Given the description of an element on the screen output the (x, y) to click on. 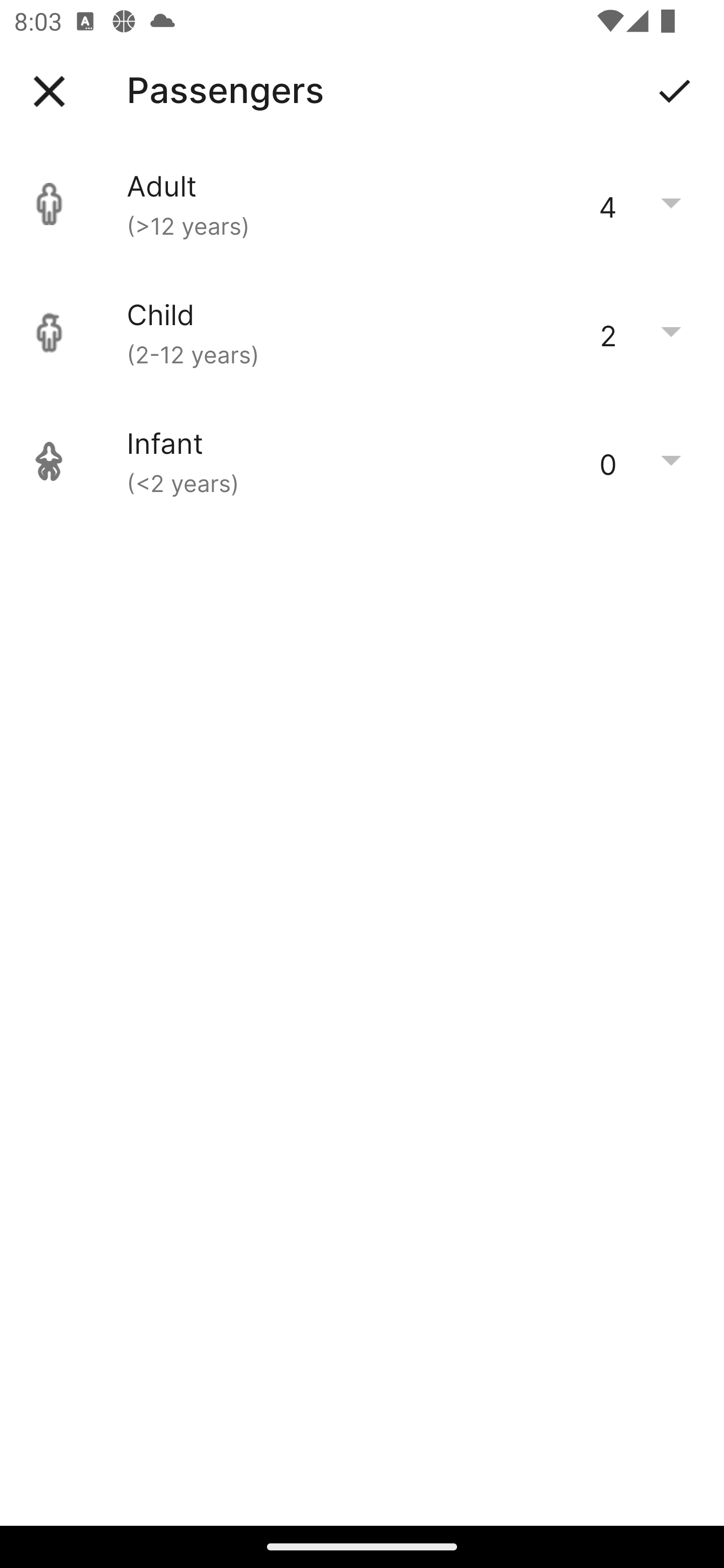
Adult (>12 years) 4 (362, 204)
Child (2-12 years) 2 (362, 332)
Infant (<2 years) 0 (362, 461)
